Given the description of an element on the screen output the (x, y) to click on. 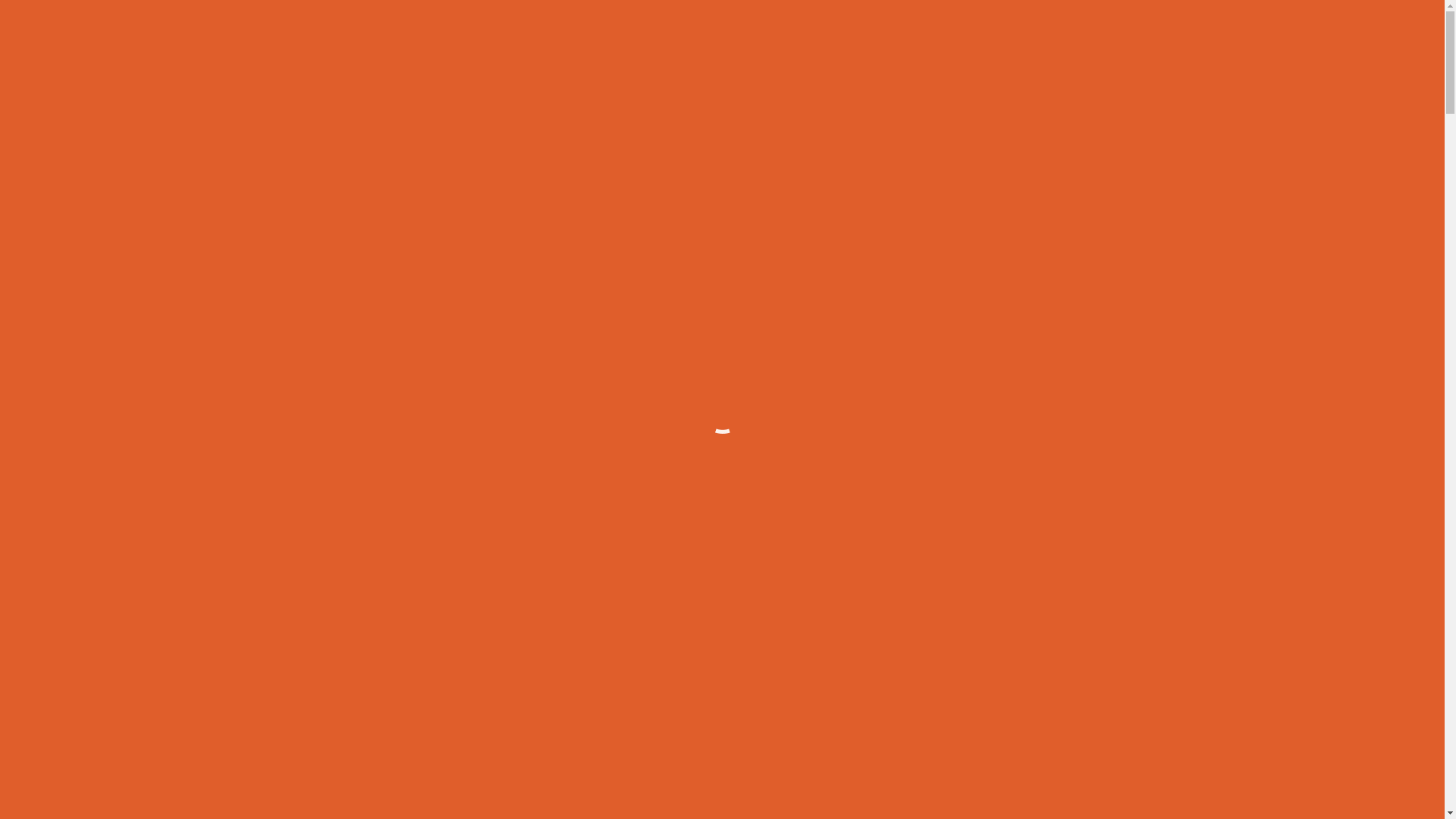
what we do Element type: text (587, 48)
Read More Element type: text (1392, 760)
projects Element type: text (868, 48)
contact Element type: text (1167, 48)
Read More Element type: text (694, 760)
management team Element type: text (773, 48)
Read More Element type: text (1025, 760)
accreditation Element type: text (1030, 48)
recognition Element type: text (942, 48)
who we are Element type: text (670, 48)
careers Element type: text (1107, 48)
